Given the description of an element on the screen output the (x, y) to click on. 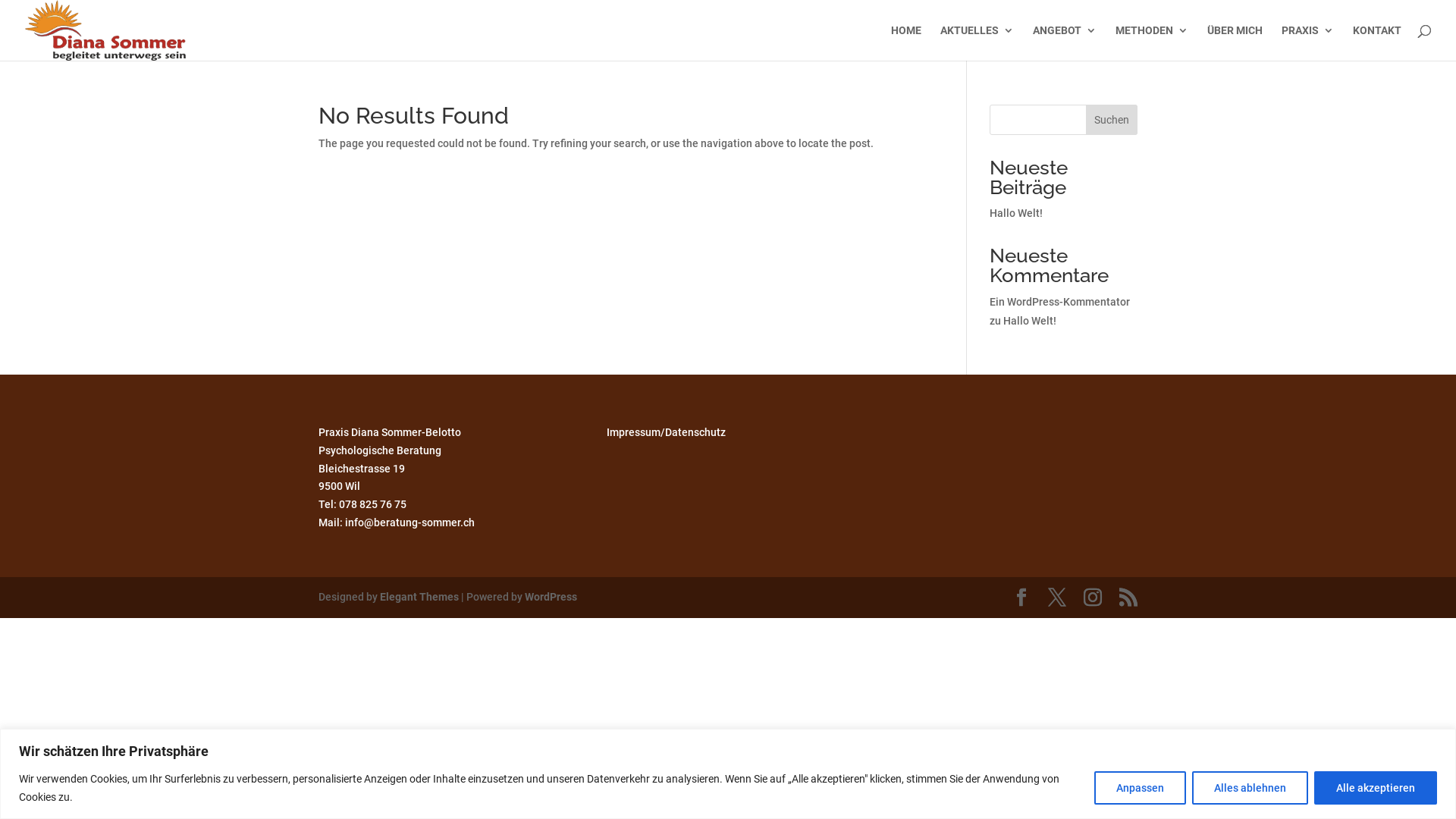
Suchen Element type: text (1111, 119)
Alles ablehnen Element type: text (1250, 786)
Ein WordPress-Kommentator Element type: text (1059, 301)
METHODEN Element type: text (1151, 42)
HOME Element type: text (906, 42)
WordPress Element type: text (550, 596)
KONTAKT Element type: text (1376, 42)
Hallo Welt! Element type: text (1029, 320)
Elegant Themes Element type: text (418, 596)
Hallo Welt! Element type: text (1015, 213)
Anpassen Element type: text (1140, 786)
PRAXIS Element type: text (1307, 42)
ANGEBOT Element type: text (1064, 42)
AKTUELLES Element type: text (976, 42)
Alle akzeptieren Element type: text (1375, 786)
Impressum/Datenschutz Element type: text (665, 432)
